Given the description of an element on the screen output the (x, y) to click on. 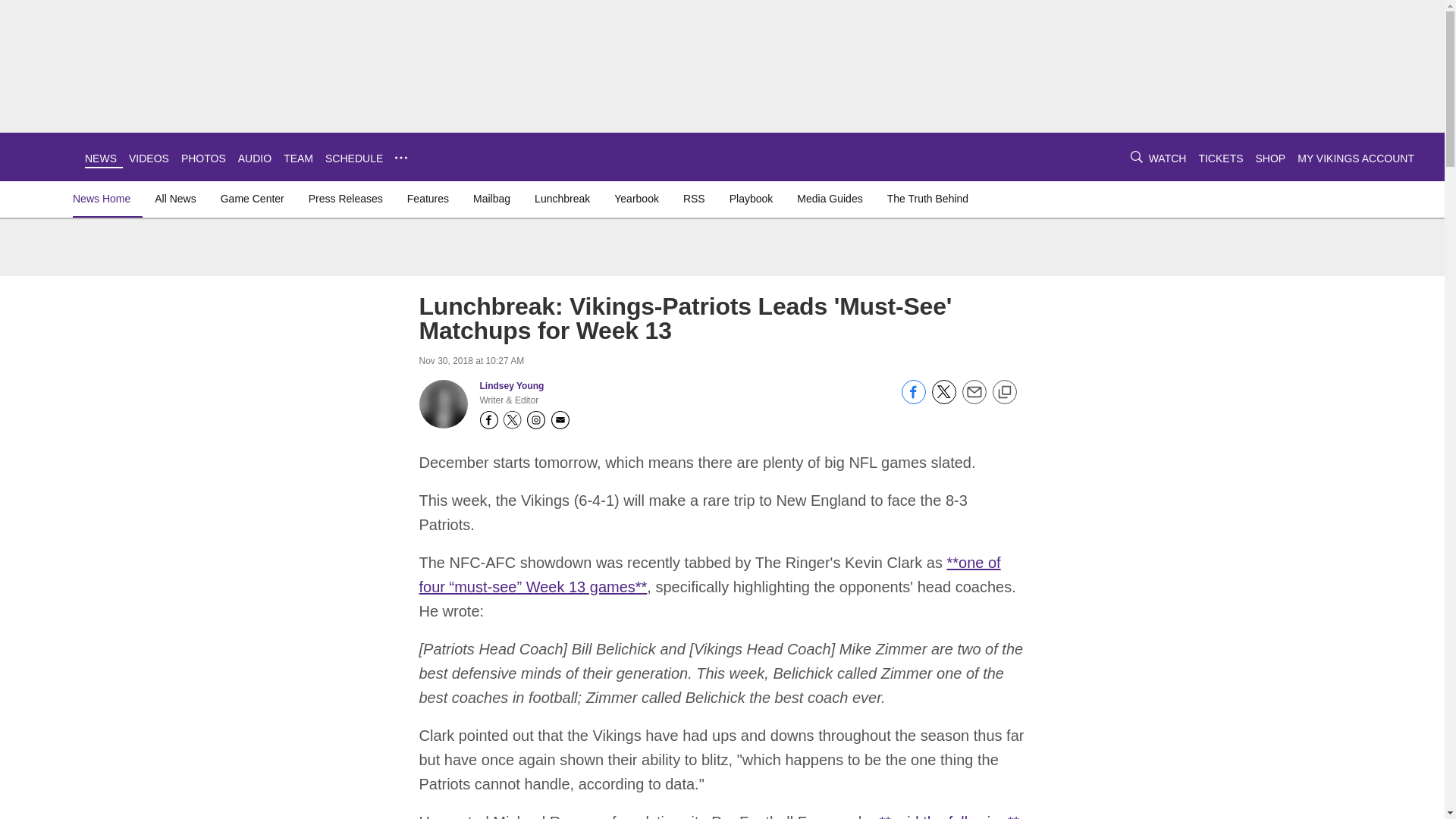
PHOTOS (202, 158)
Yearbook (636, 198)
Media Guides (828, 198)
The Truth Behind (927, 198)
News Home (104, 198)
Features (427, 198)
PHOTOS (202, 158)
Lunchbreak (561, 198)
TICKETS (1220, 158)
NEWS (100, 158)
